Given the description of an element on the screen output the (x, y) to click on. 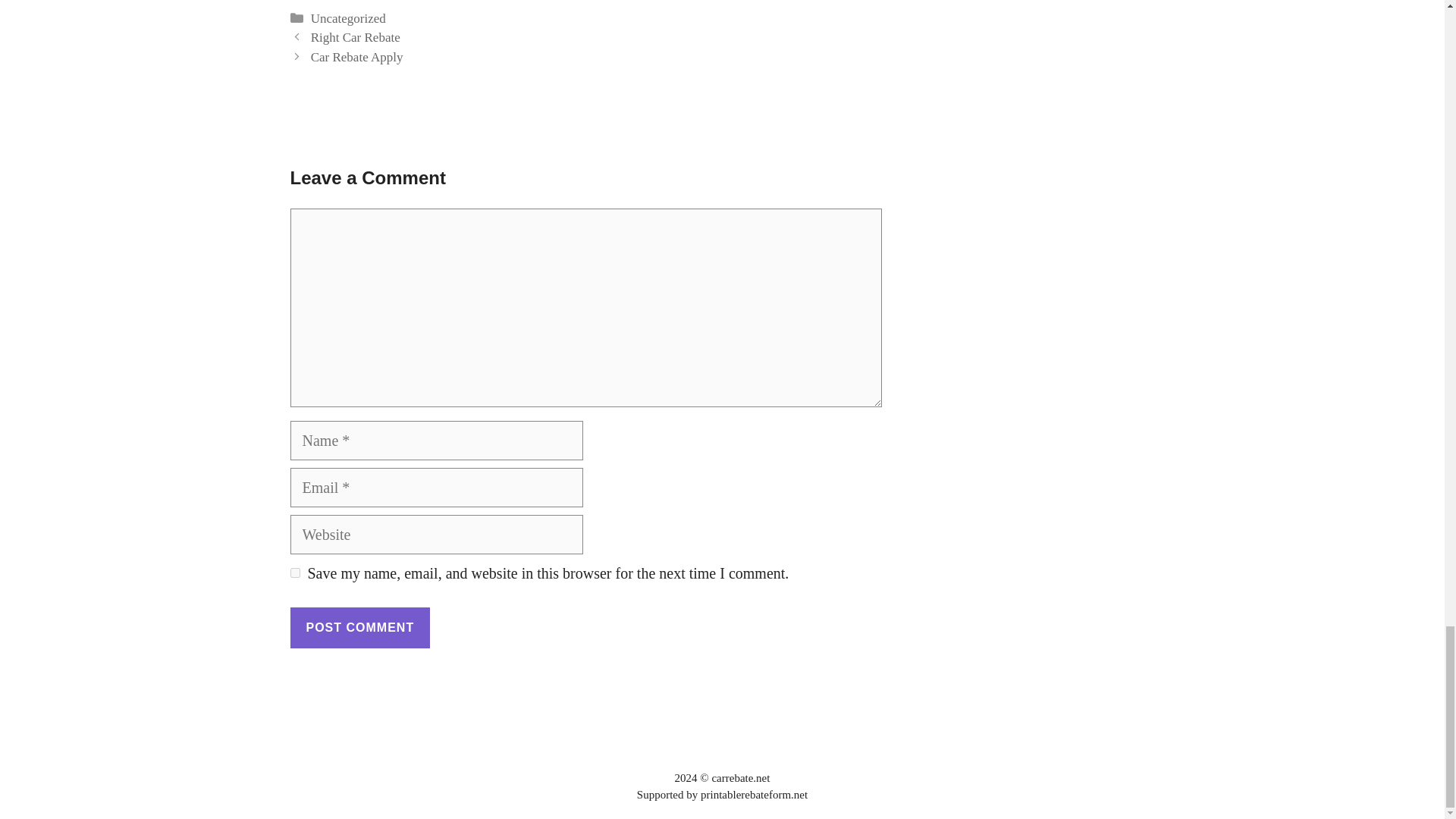
Post Comment (359, 627)
Uncategorized (348, 17)
printablerebateform.net (754, 794)
Right Car Rebate (355, 37)
Post Comment (359, 627)
Previous (355, 37)
Next (357, 56)
Car Rebate Apply (357, 56)
yes (294, 573)
